Given the description of an element on the screen output the (x, y) to click on. 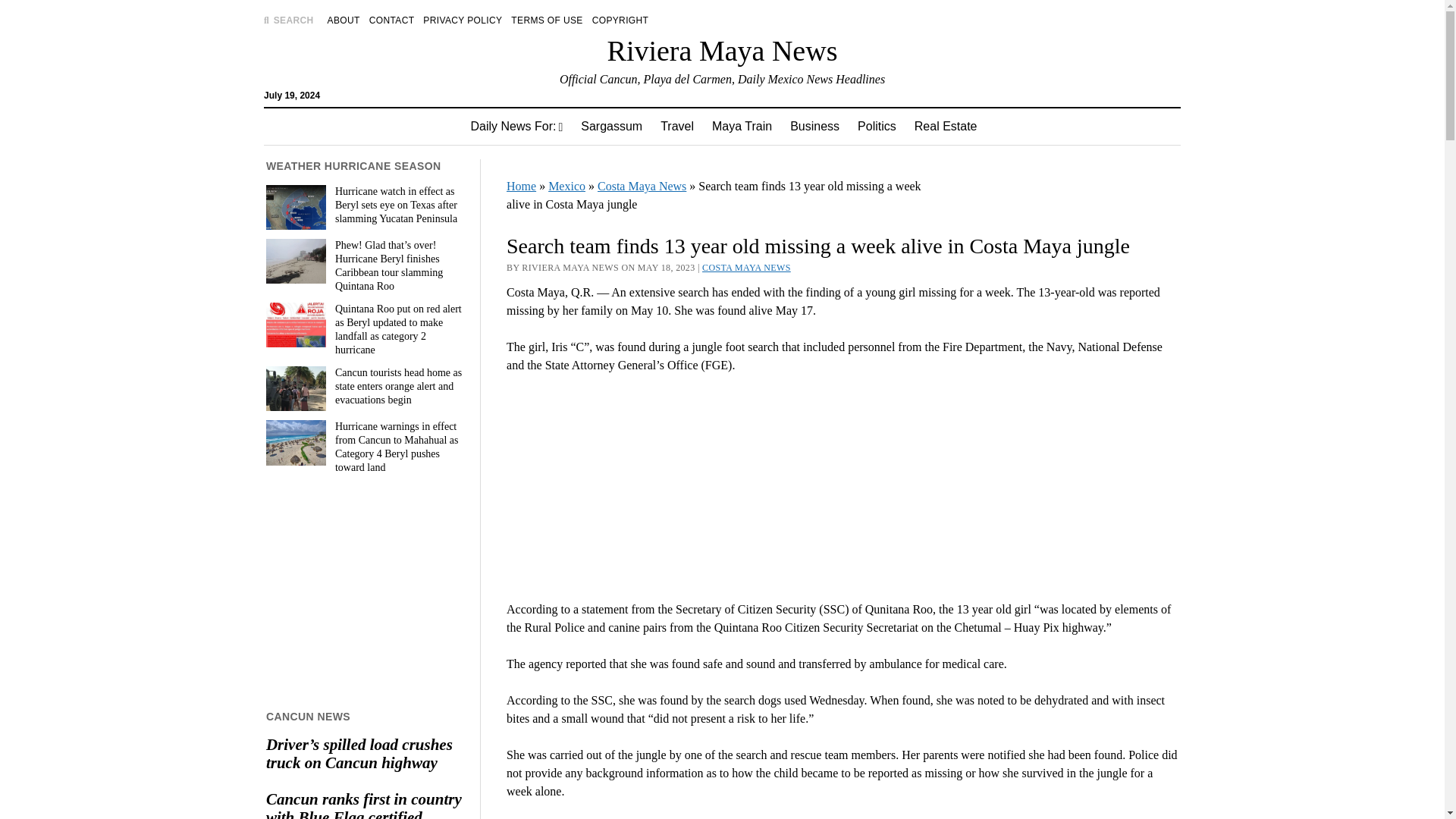
Sargassum (611, 126)
View all posts in Costa Maya News (745, 267)
ABOUT (343, 20)
PRIVACY POLICY (462, 20)
Travel (676, 126)
COPYRIGHT (620, 20)
Riviera Maya News (722, 50)
Daily News For: (516, 126)
CONTACT (391, 20)
SEARCH (288, 20)
Business (814, 126)
TERMS OF USE (546, 20)
Maya Train (741, 126)
Search (945, 129)
